Given the description of an element on the screen output the (x, y) to click on. 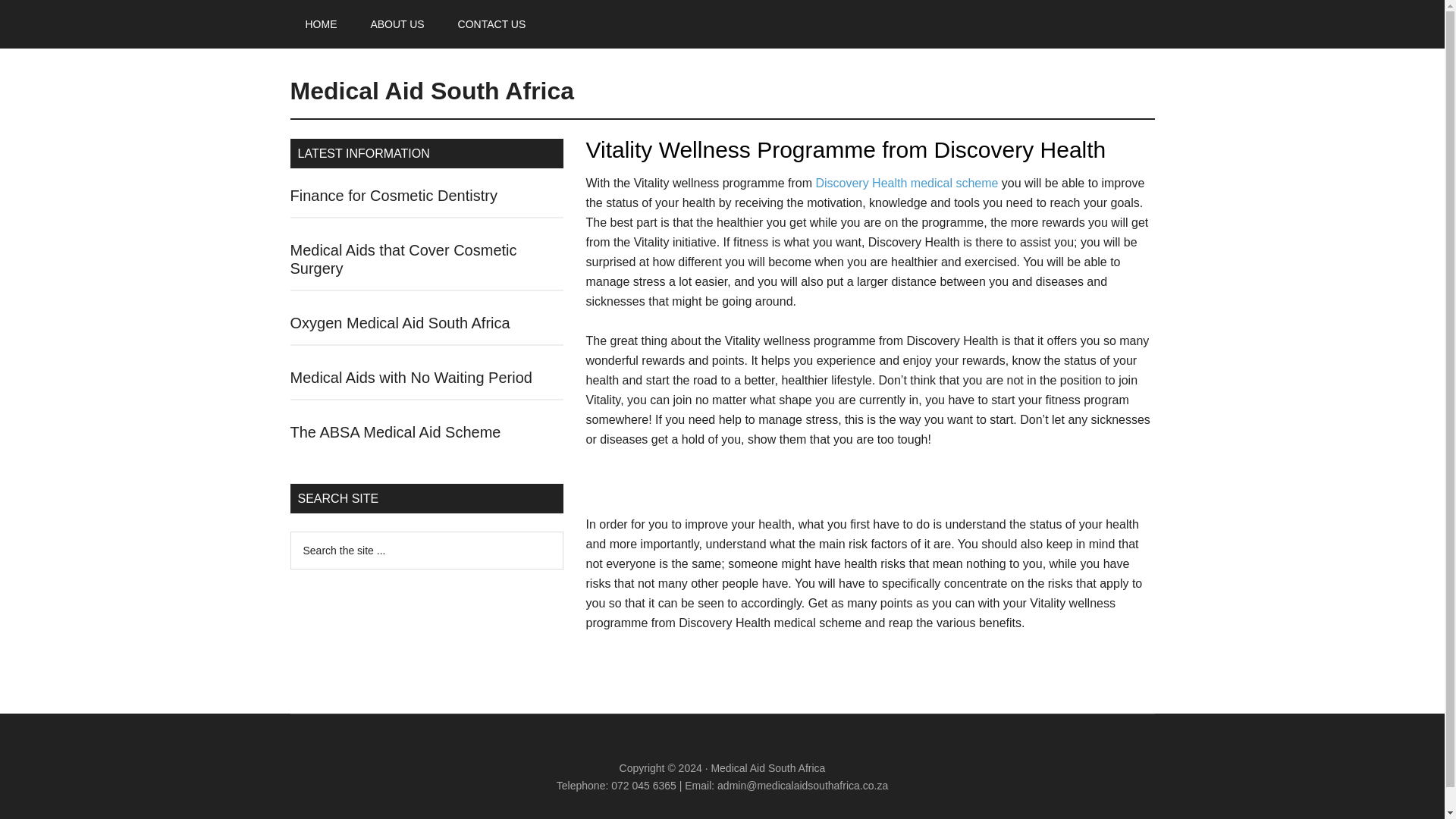
CONTACT US (491, 24)
Oxygen Medical Aid South Africa (399, 322)
Medical Aid South Africa (431, 90)
Medical Aids that Cover Cosmetic Surgery (402, 258)
The ABSA Medical Aid Scheme (394, 432)
HOME (320, 24)
Medical Aids with No Waiting Period (410, 377)
